Given the description of an element on the screen output the (x, y) to click on. 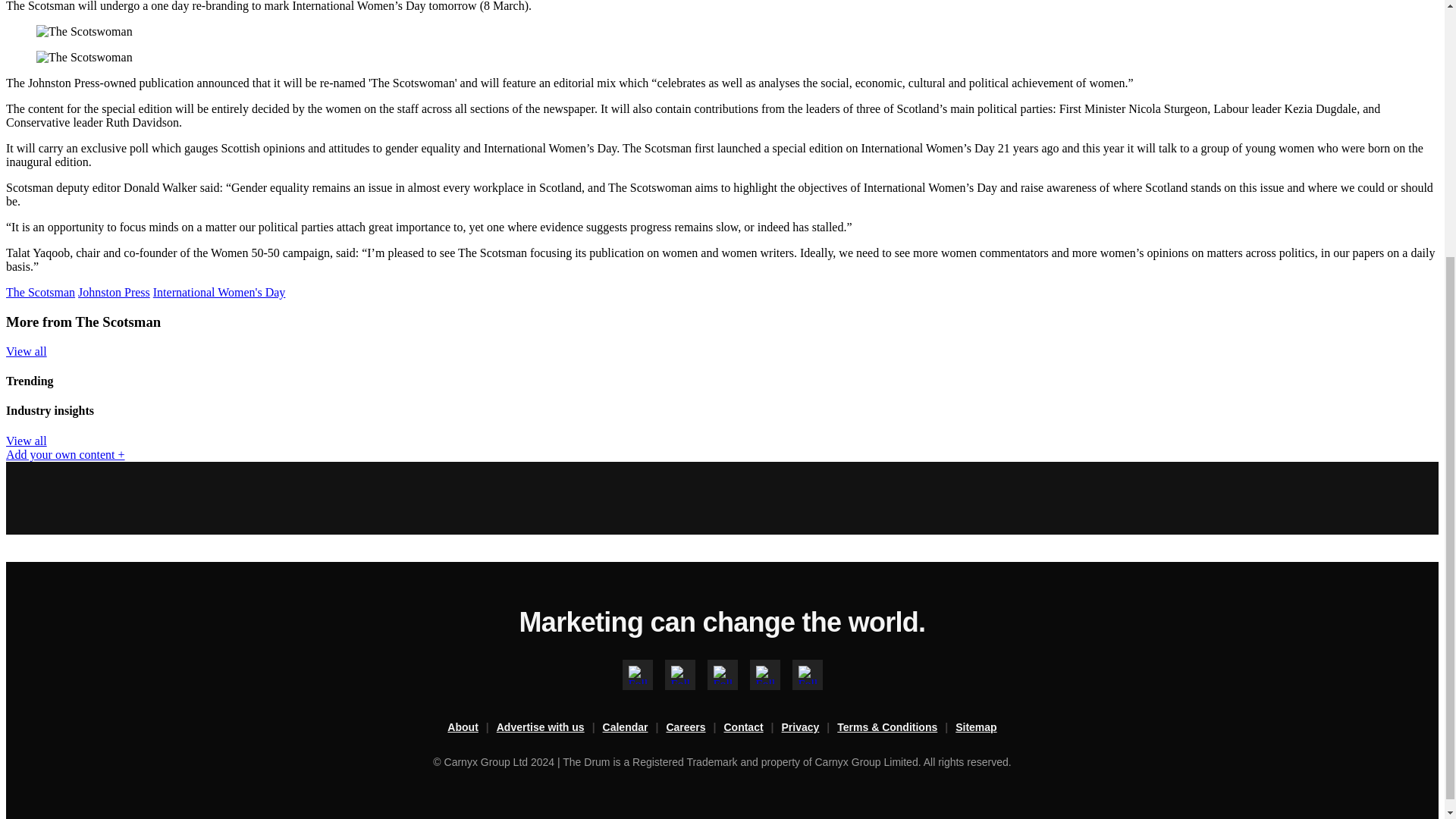
Advertise with us (549, 728)
The Scotswoman  (84, 31)
View all (25, 350)
International Women's Day (218, 291)
About (471, 728)
Privacy (809, 728)
View all (25, 440)
Careers (694, 728)
The Scotsman (40, 291)
Calendar (634, 728)
